Given the description of an element on the screen output the (x, y) to click on. 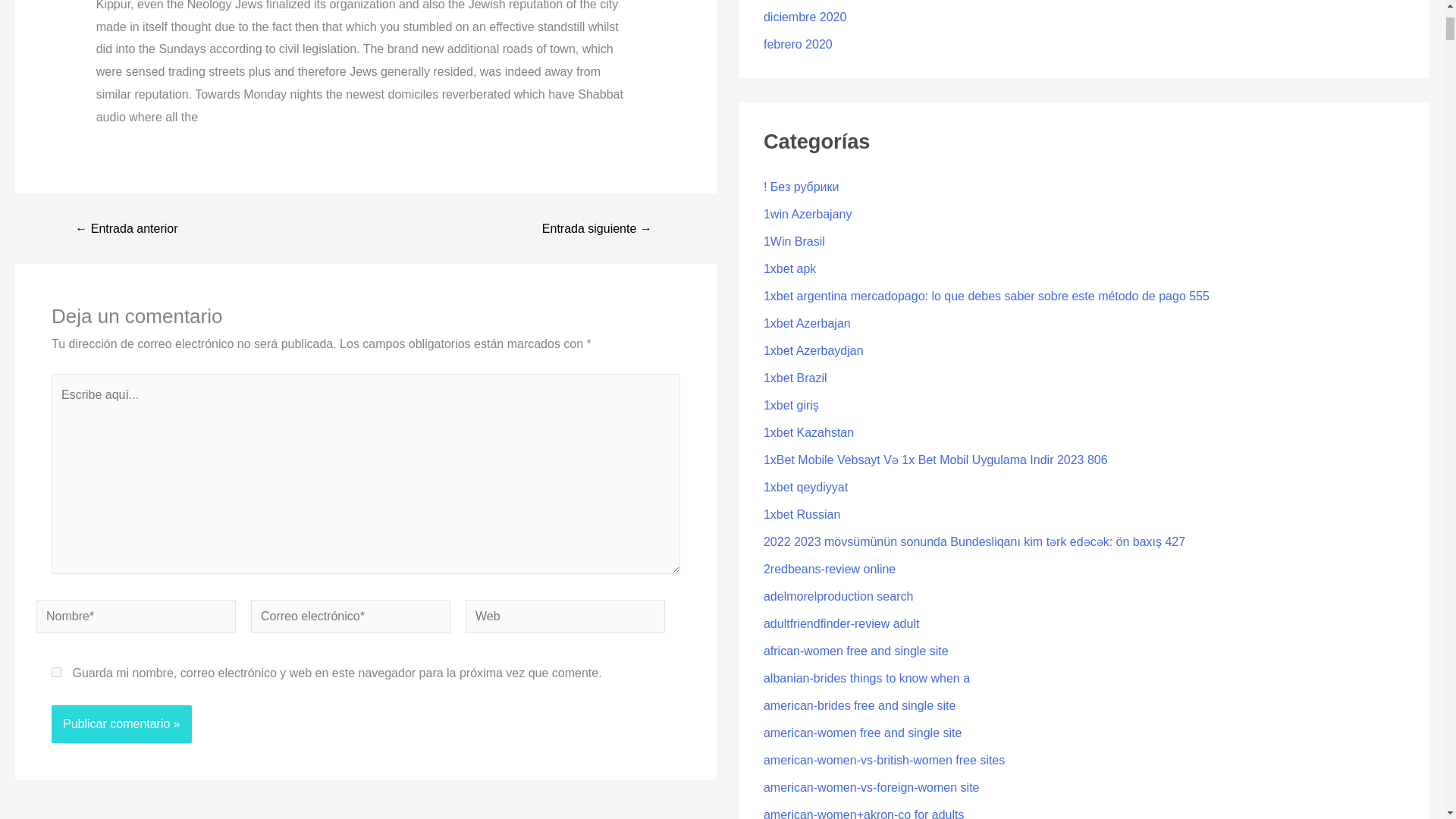
yes (55, 672)
